Given the description of an element on the screen output the (x, y) to click on. 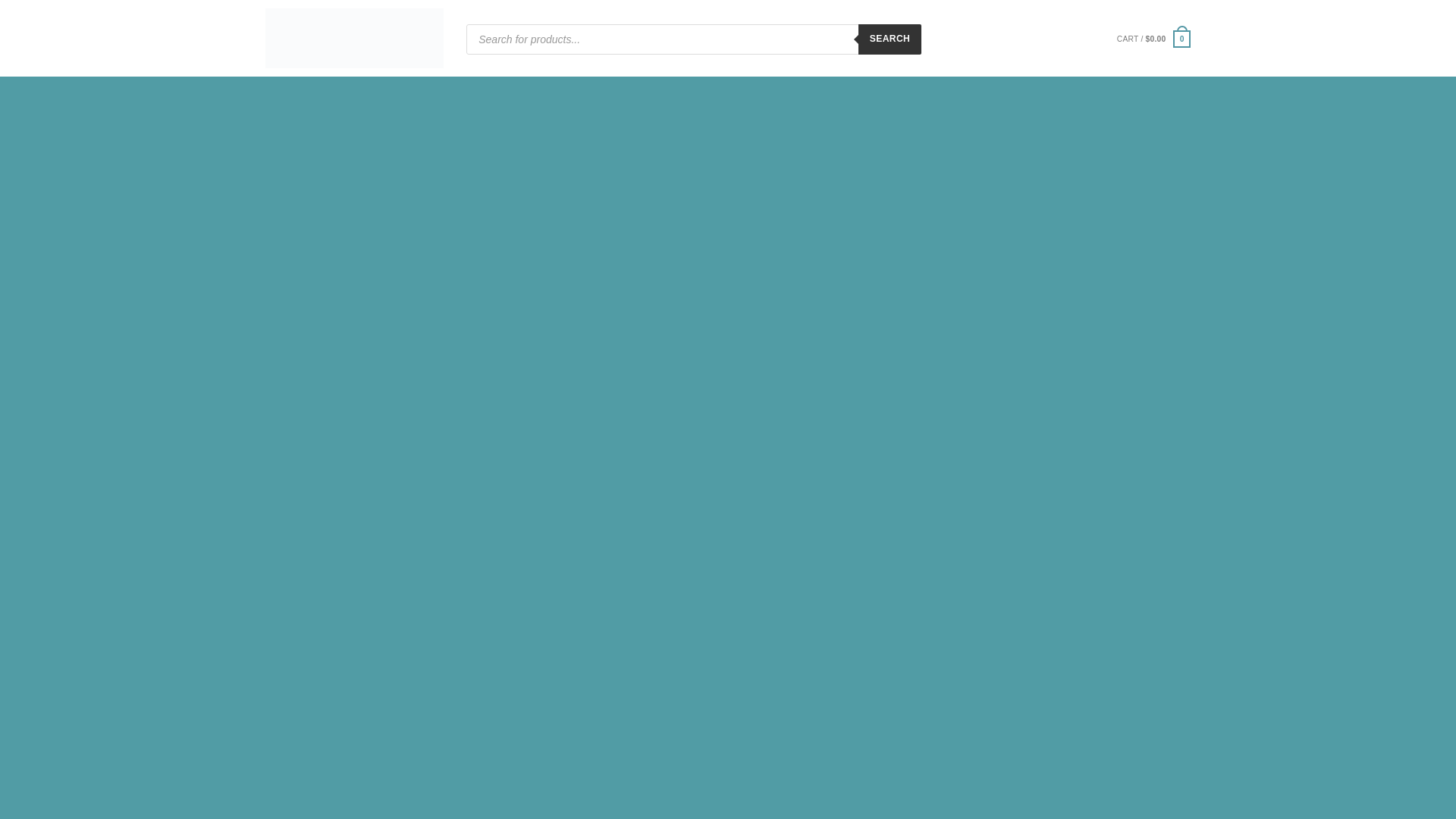
Cart (1153, 38)
SEARCH (890, 39)
